Given the description of an element on the screen output the (x, y) to click on. 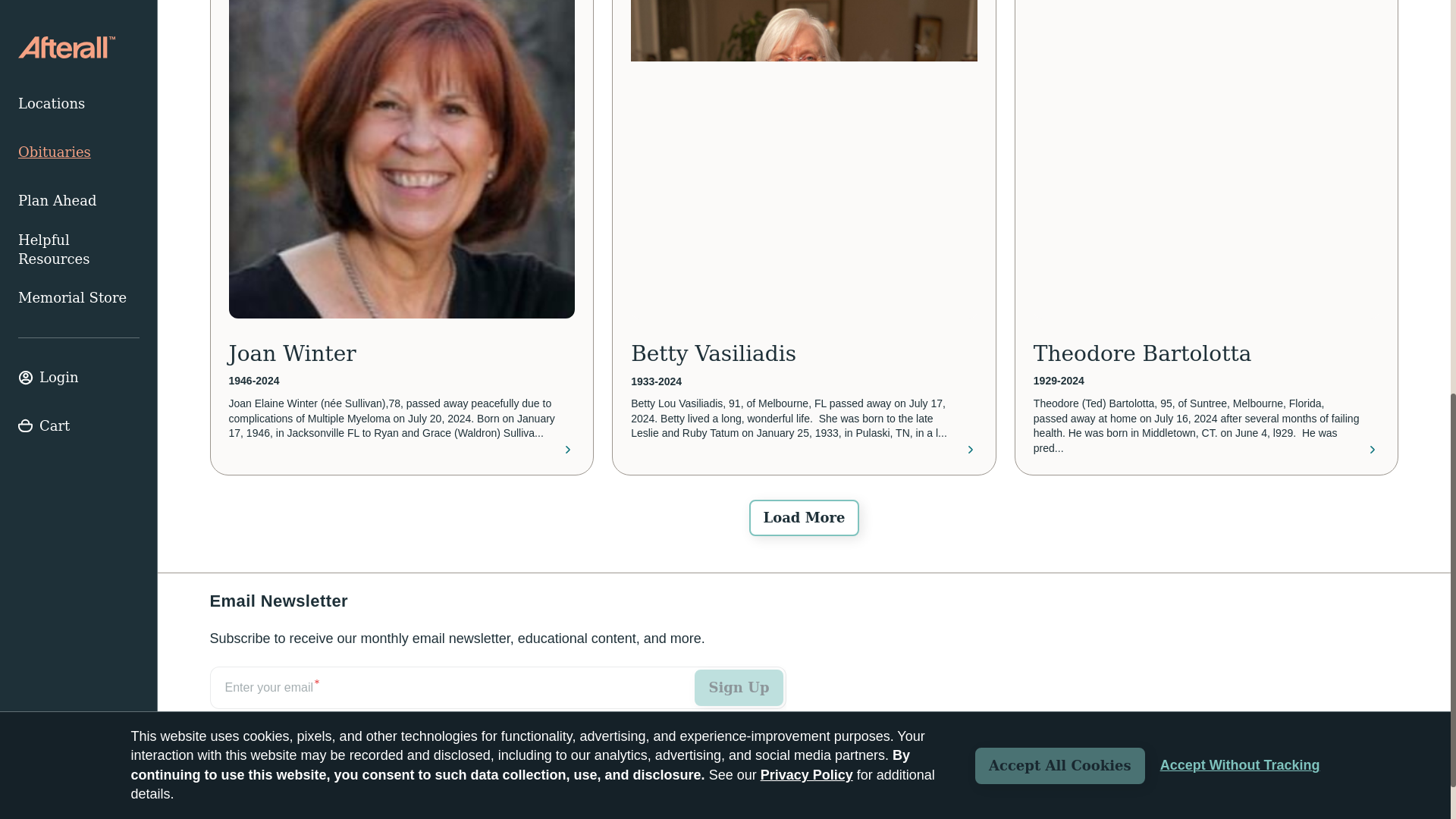
FAQs (341, 788)
Load More (804, 517)
Sign Up (738, 687)
Email Newsletter (497, 704)
Track an Order (257, 788)
